Given the description of an element on the screen output the (x, y) to click on. 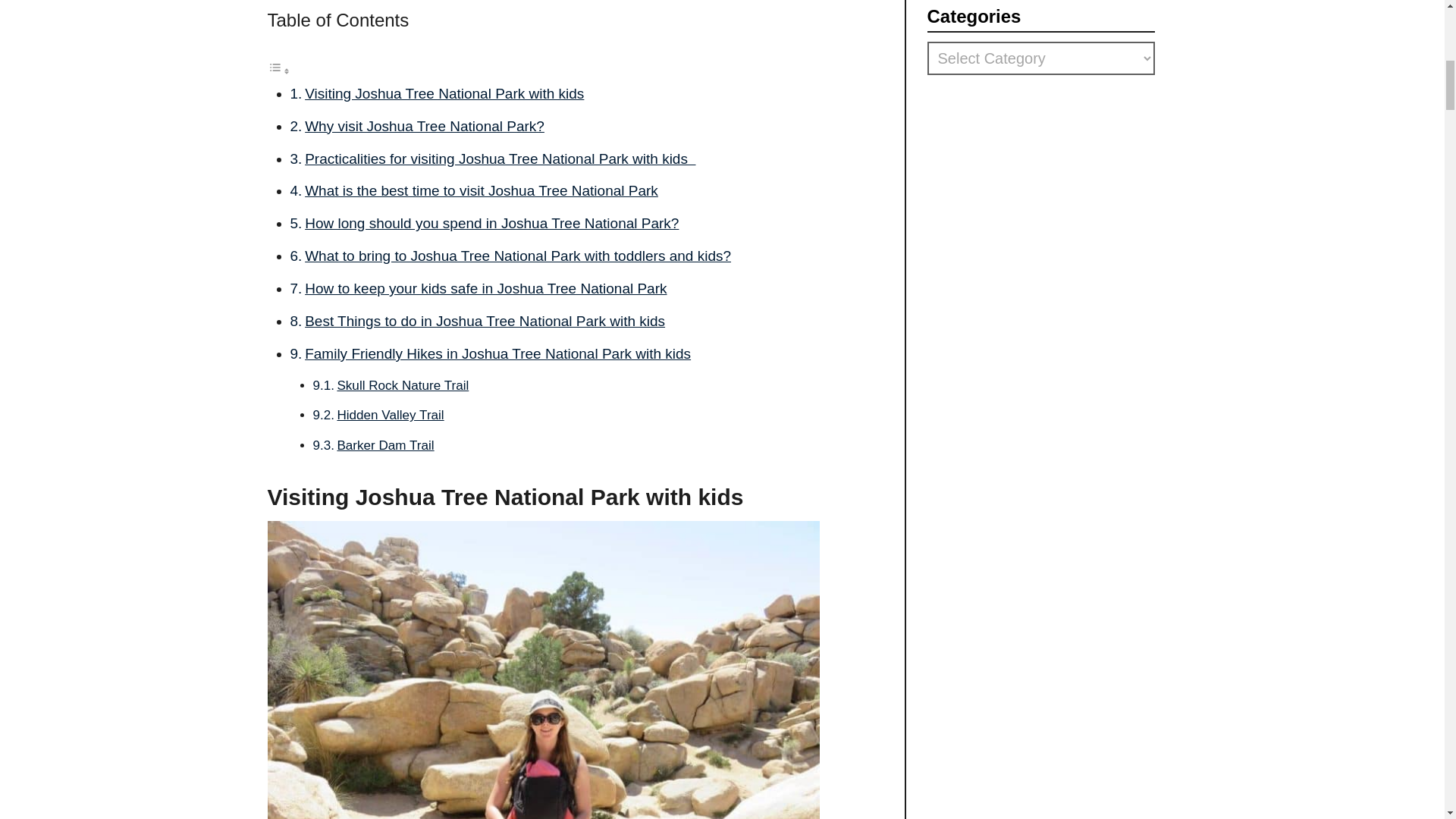
Skull Rock Nature Trail (402, 385)
Hidden Valley Trail (390, 414)
Family Friendly Hikes in Joshua Tree National Park with kids (497, 353)
What is the best time to visit Joshua Tree National Park (481, 190)
Visiting Joshua Tree National Park with kids (443, 93)
Why visit Joshua Tree National Park? (424, 125)
Barker Dam Trail (384, 445)
Best Things to do in Joshua Tree National Park with kids (484, 320)
